Given the description of an element on the screen output the (x, y) to click on. 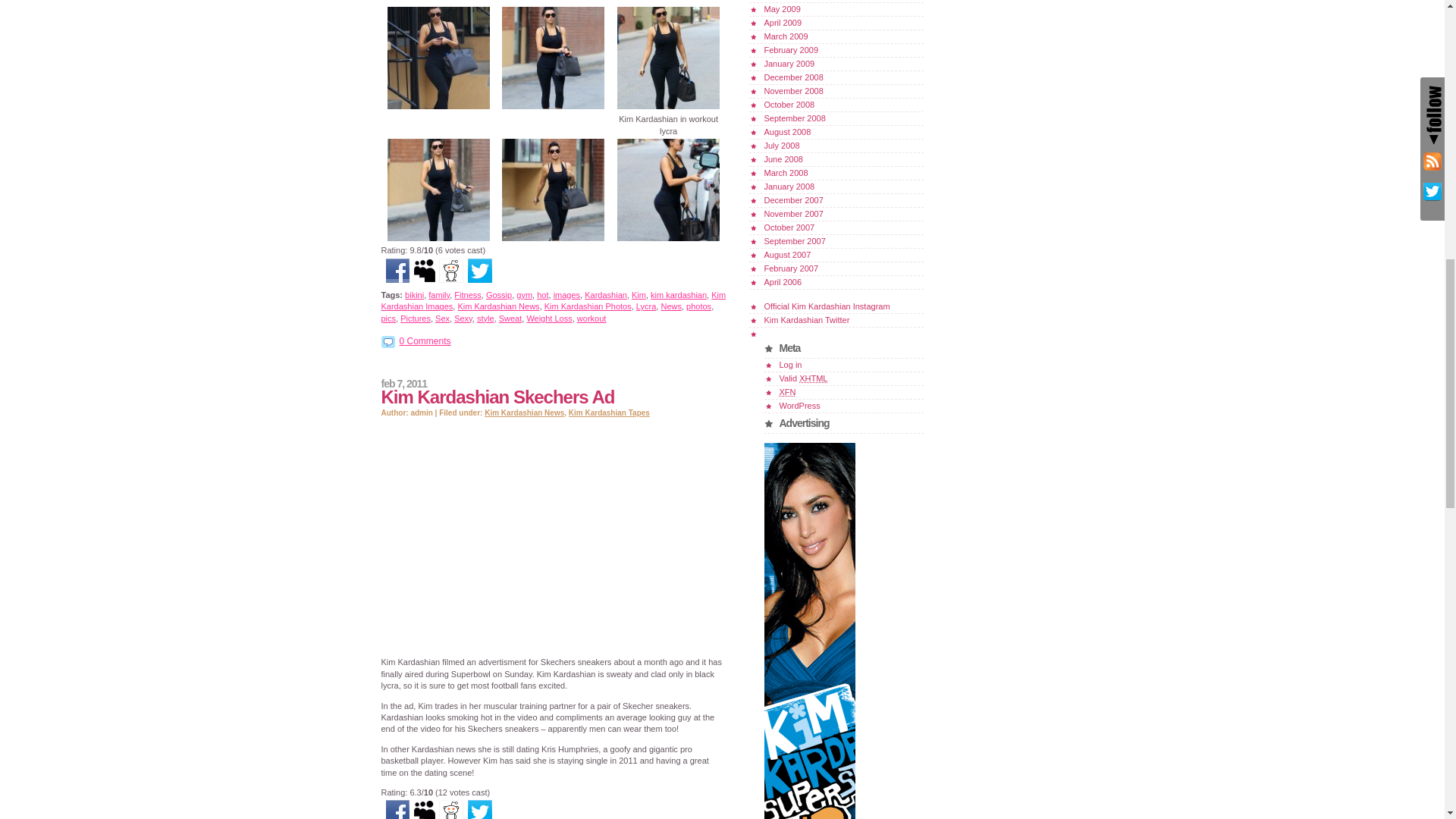
Kim-Kardashian-Leaving-the-Gym-4 (667, 57)
bikini (413, 294)
family (438, 294)
 Kim-Kardashian-Leaving-the-Gym-2  (552, 238)
Kardashian (606, 294)
images (566, 294)
 Kim-Kardashian-Leaving-the-Gym-6  (437, 107)
hot (542, 294)
kim kardashian (678, 294)
 Kim-Kardashian-Leaving-the-Gym-5  (552, 107)
